Given the description of an element on the screen output the (x, y) to click on. 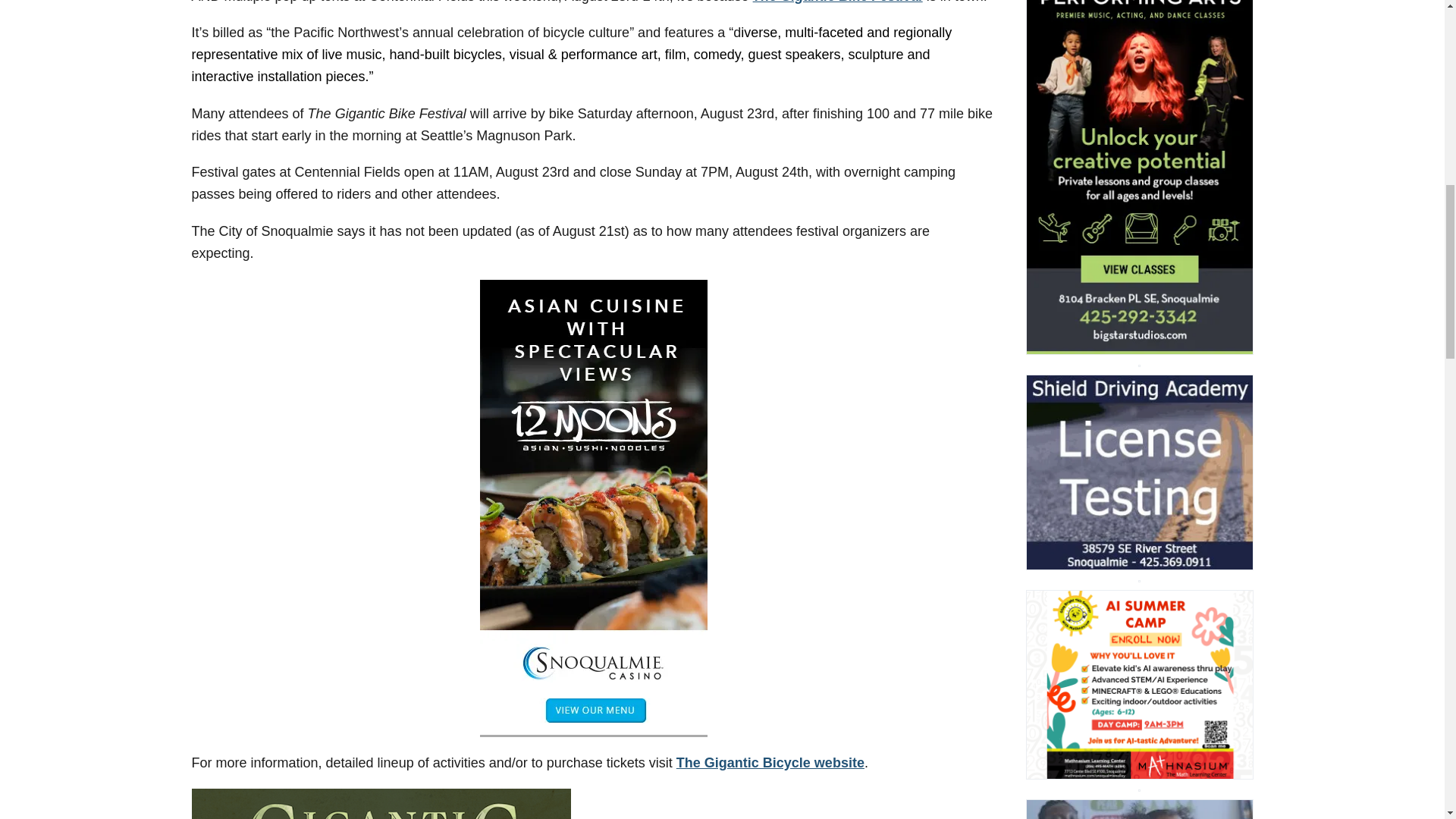
The Gigantic Bike Festival (837, 2)
The Gigantic Bicycle website (770, 762)
